Given the description of an element on the screen output the (x, y) to click on. 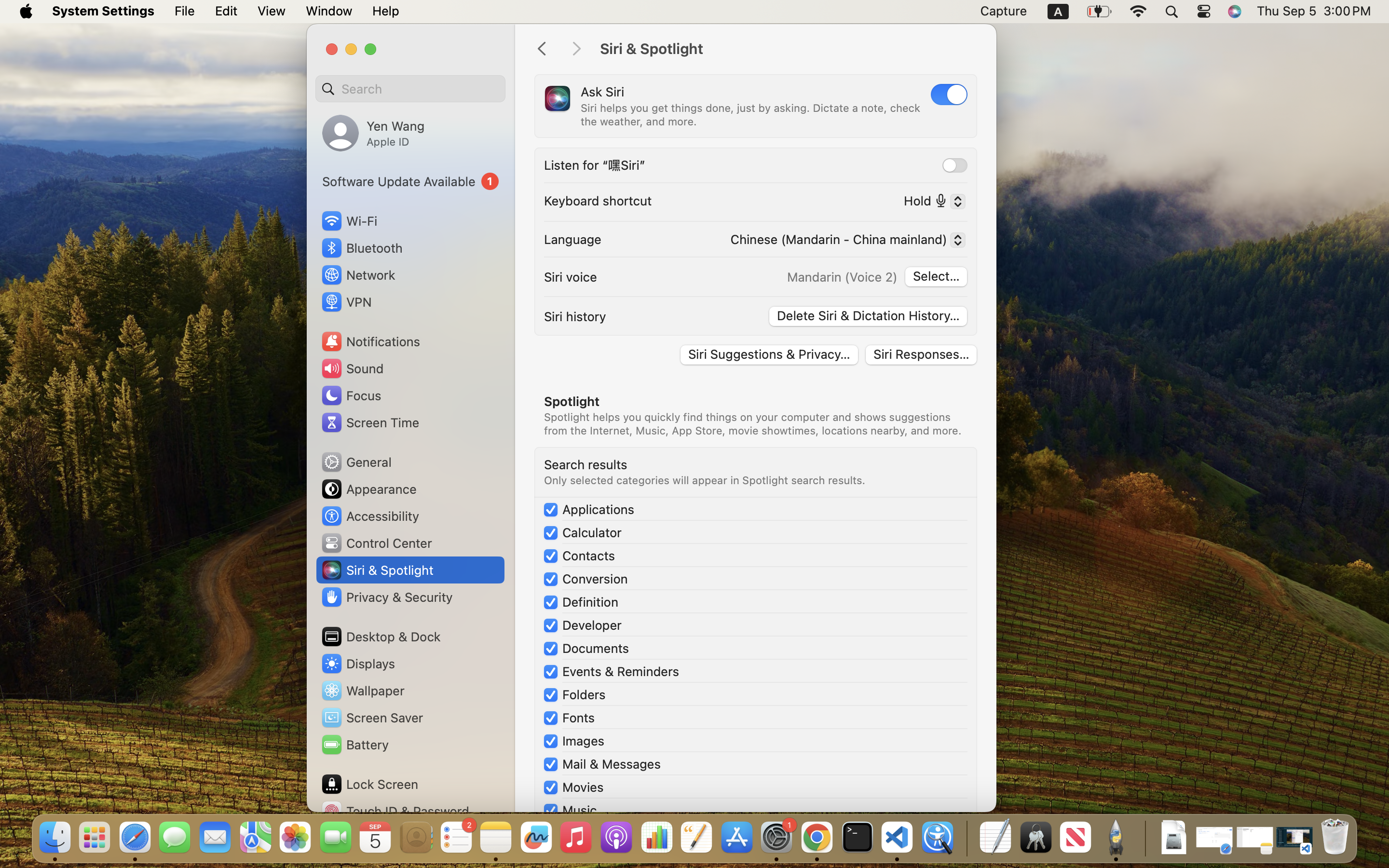
Screen Time Element type: AXStaticText (369, 422)
Network Element type: AXStaticText (357, 274)
Lock Screen Element type: AXStaticText (369, 783)
Screen Saver Element type: AXStaticText (371, 717)
Appearance Element type: AXStaticText (368, 488)
